Given the description of an element on the screen output the (x, y) to click on. 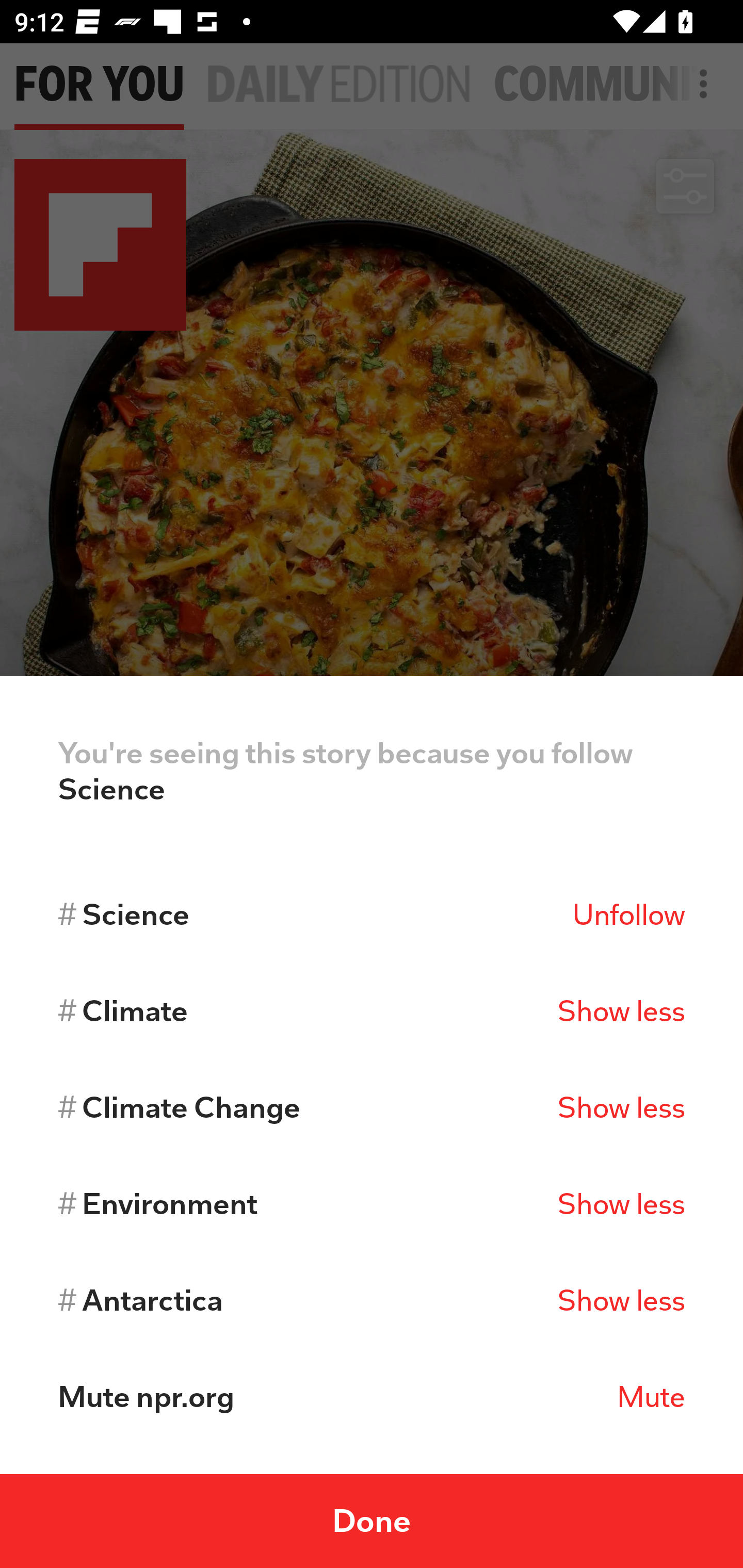
Unfollow (628, 914)
Show less (621, 1011)
Show less (621, 1107)
Show less (621, 1204)
Show less (621, 1300)
Mute (651, 1396)
Done (371, 1520)
